Given the description of an element on the screen output the (x, y) to click on. 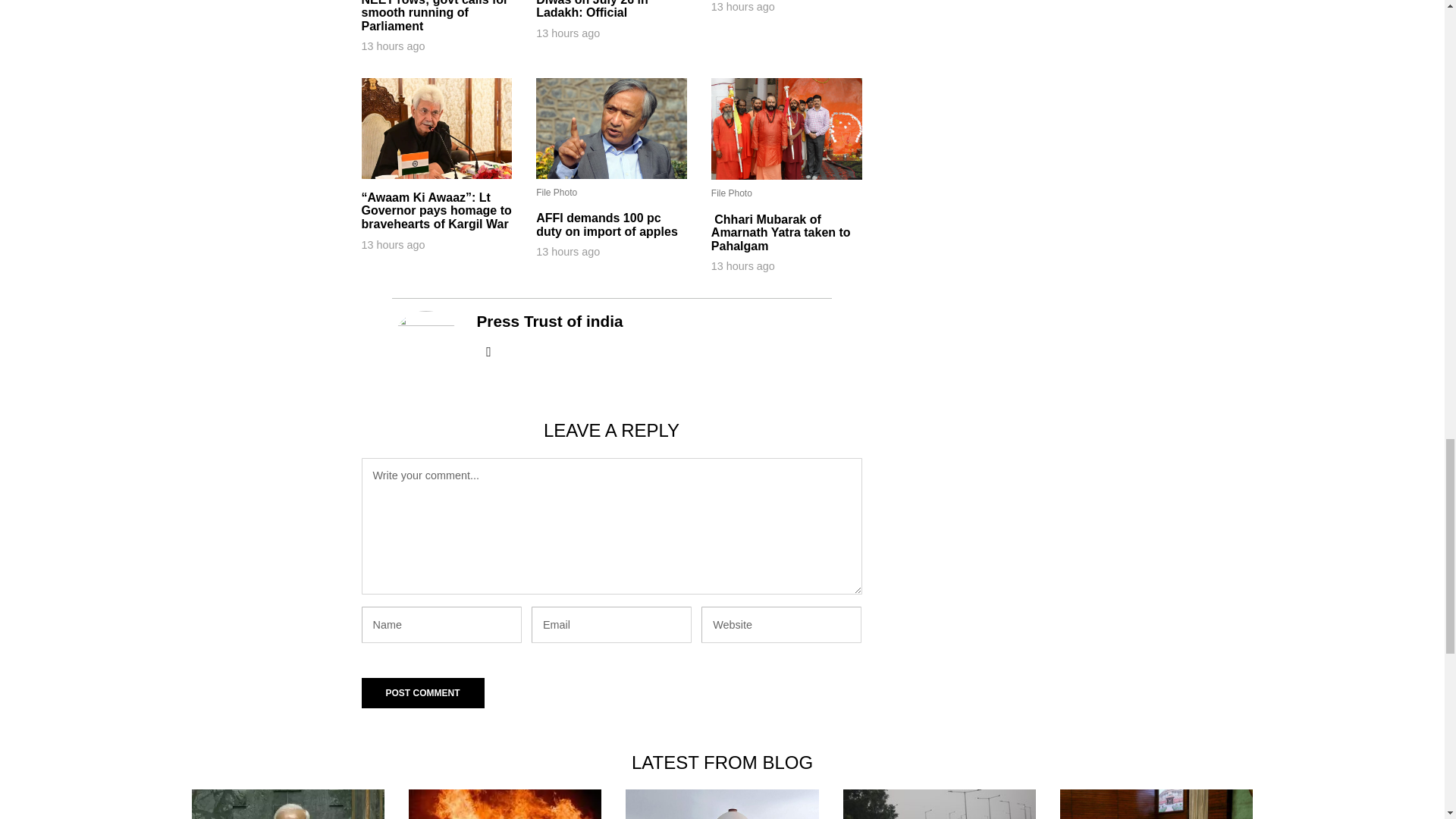
22 Jul, 2024 00:53:31 (393, 244)
22 Jul, 2024 00:06:39 (393, 46)
22 Jul, 2024 00:05:29 (742, 265)
22 Jul, 2024 00:47:30 (567, 251)
Post Comment (422, 693)
22 Jul, 2024 00:34:35 (567, 32)
22 Jul, 2024 00:21:33 (742, 7)
